Given the description of an element on the screen output the (x, y) to click on. 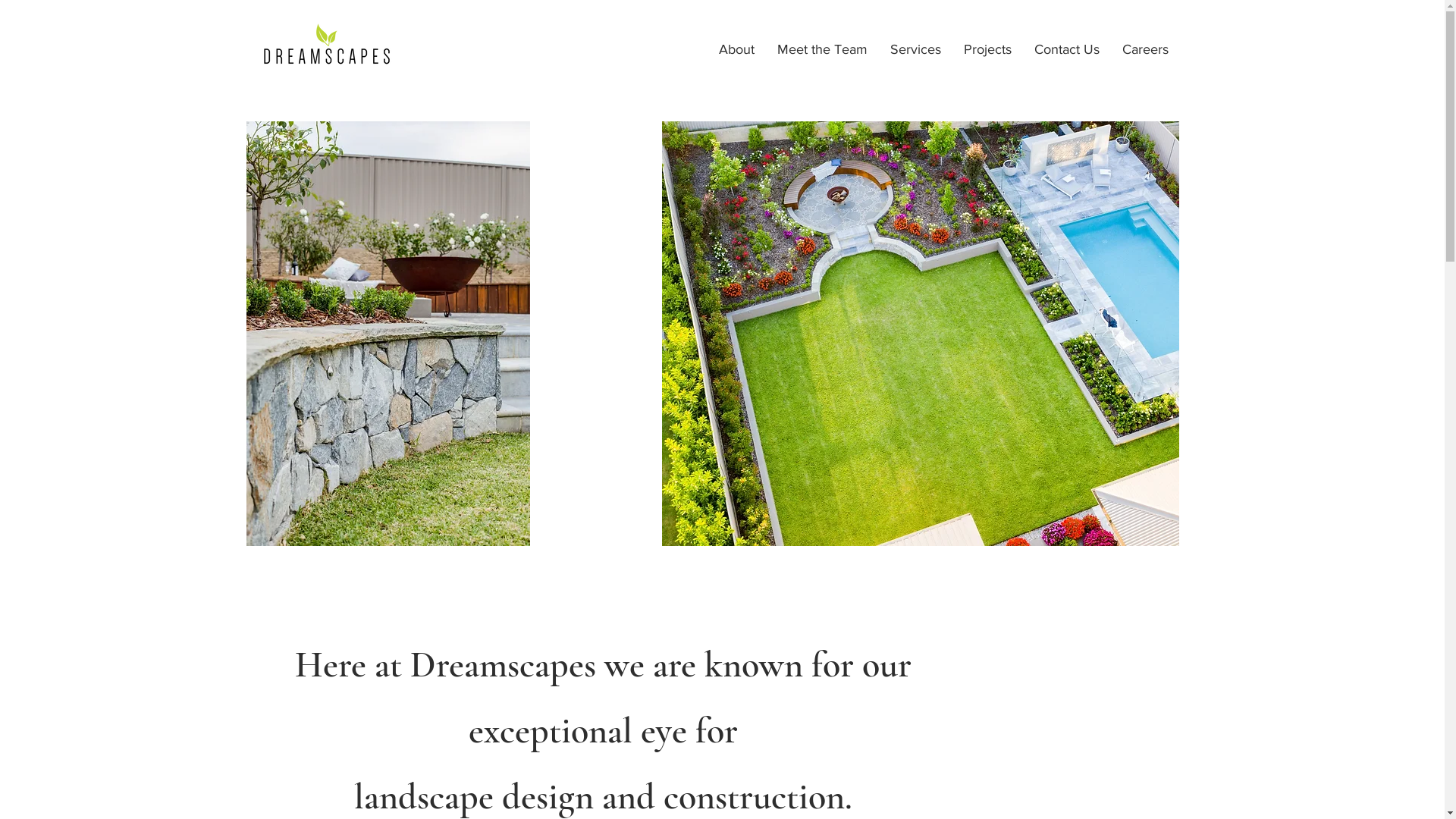
Projects Element type: text (987, 49)
About Element type: text (735, 49)
Contact Us Element type: text (1066, 49)
Careers Element type: text (1144, 49)
Meet the Team Element type: text (821, 49)
Services Element type: text (914, 49)
